Given the description of an element on the screen output the (x, y) to click on. 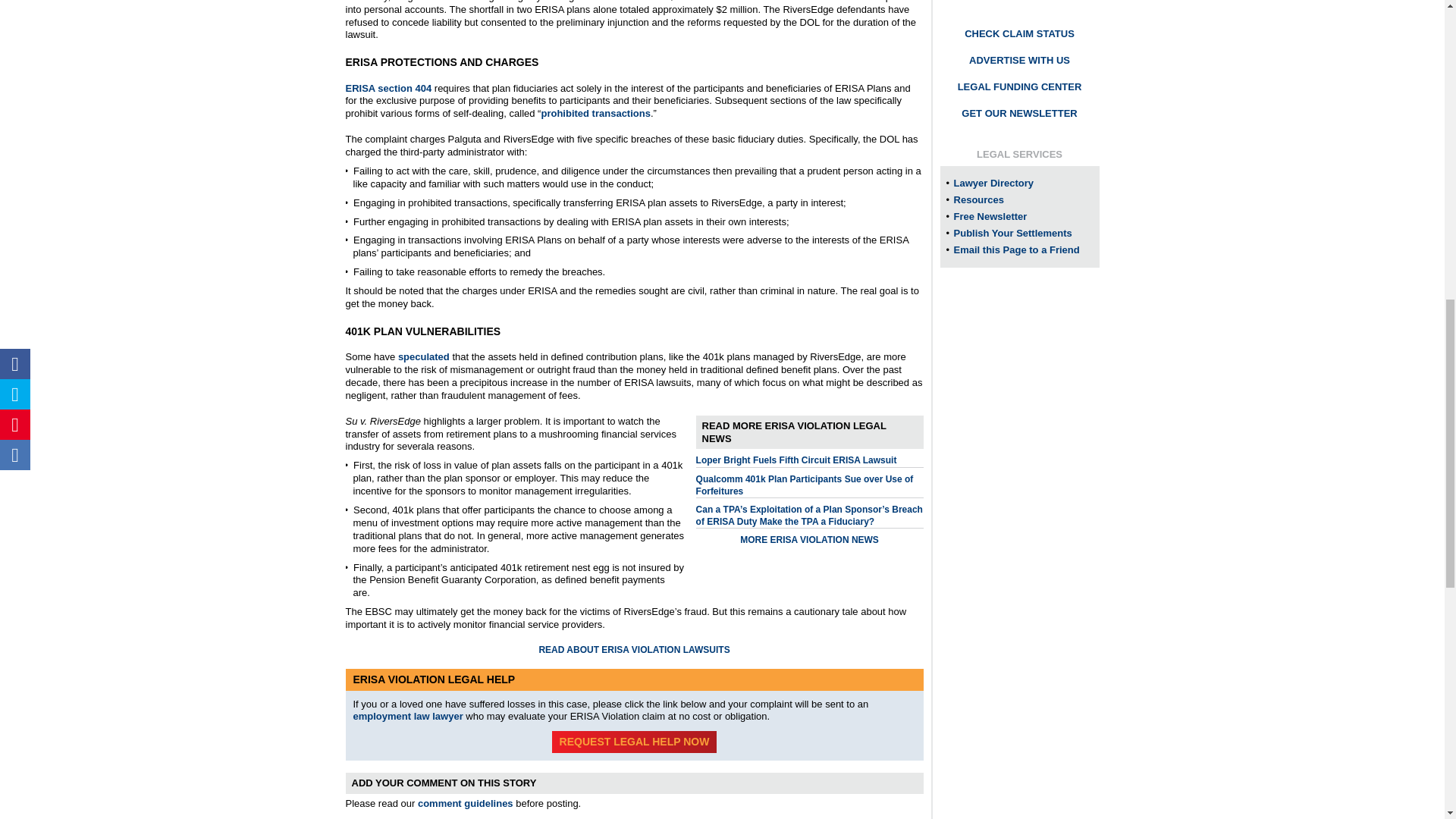
employment law lawyer (408, 715)
REQUEST LEGAL HELP NOW (634, 741)
ERISA section 404 (389, 88)
prohibited transactions (594, 112)
comment guidelines (465, 803)
Employment Law Lawyer (408, 715)
speculated (423, 356)
